Given the description of an element on the screen output the (x, y) to click on. 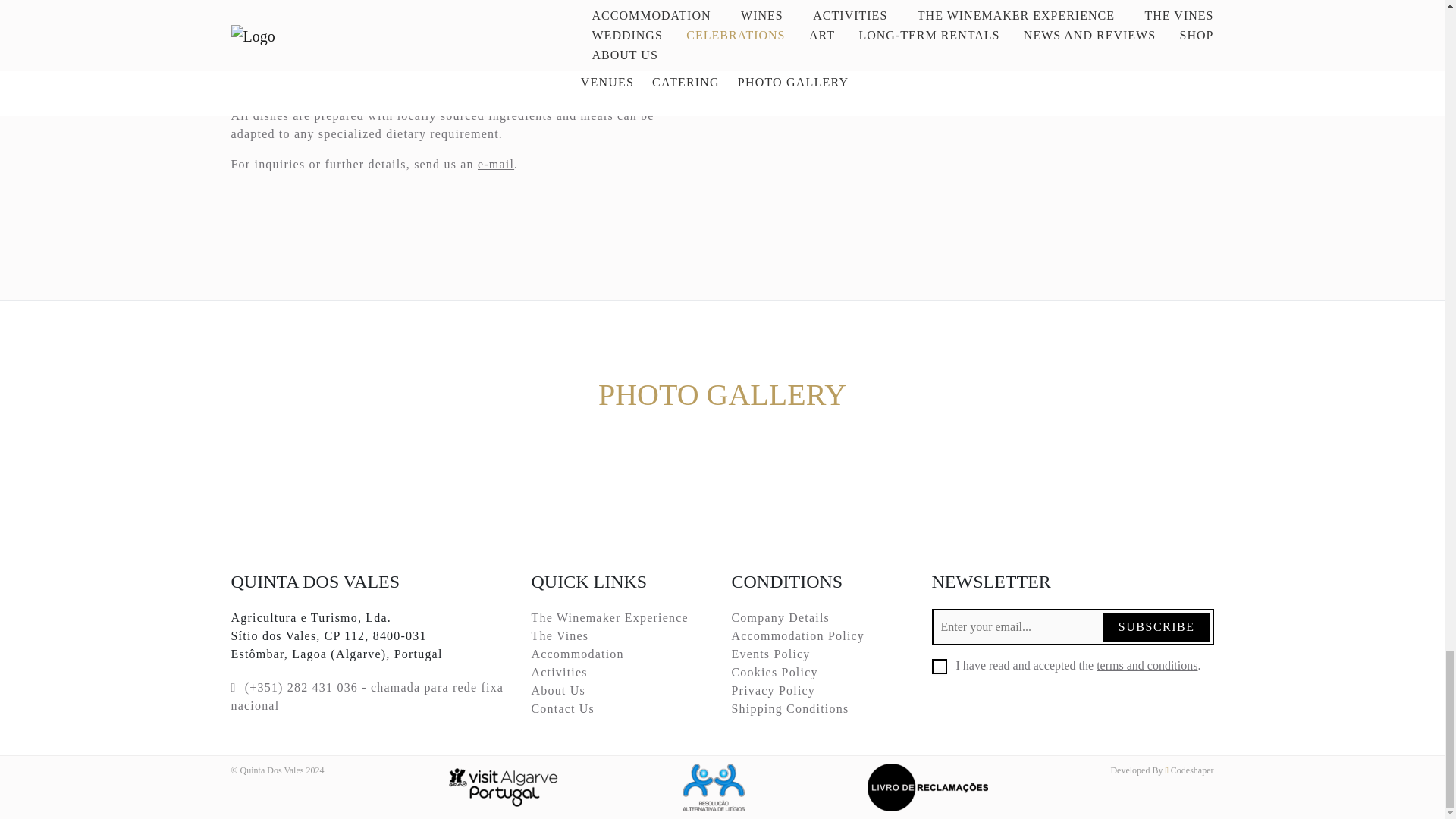
e-mail (495, 164)
The Winemaker Experience (609, 617)
range (380, 18)
